Given the description of an element on the screen output the (x, y) to click on. 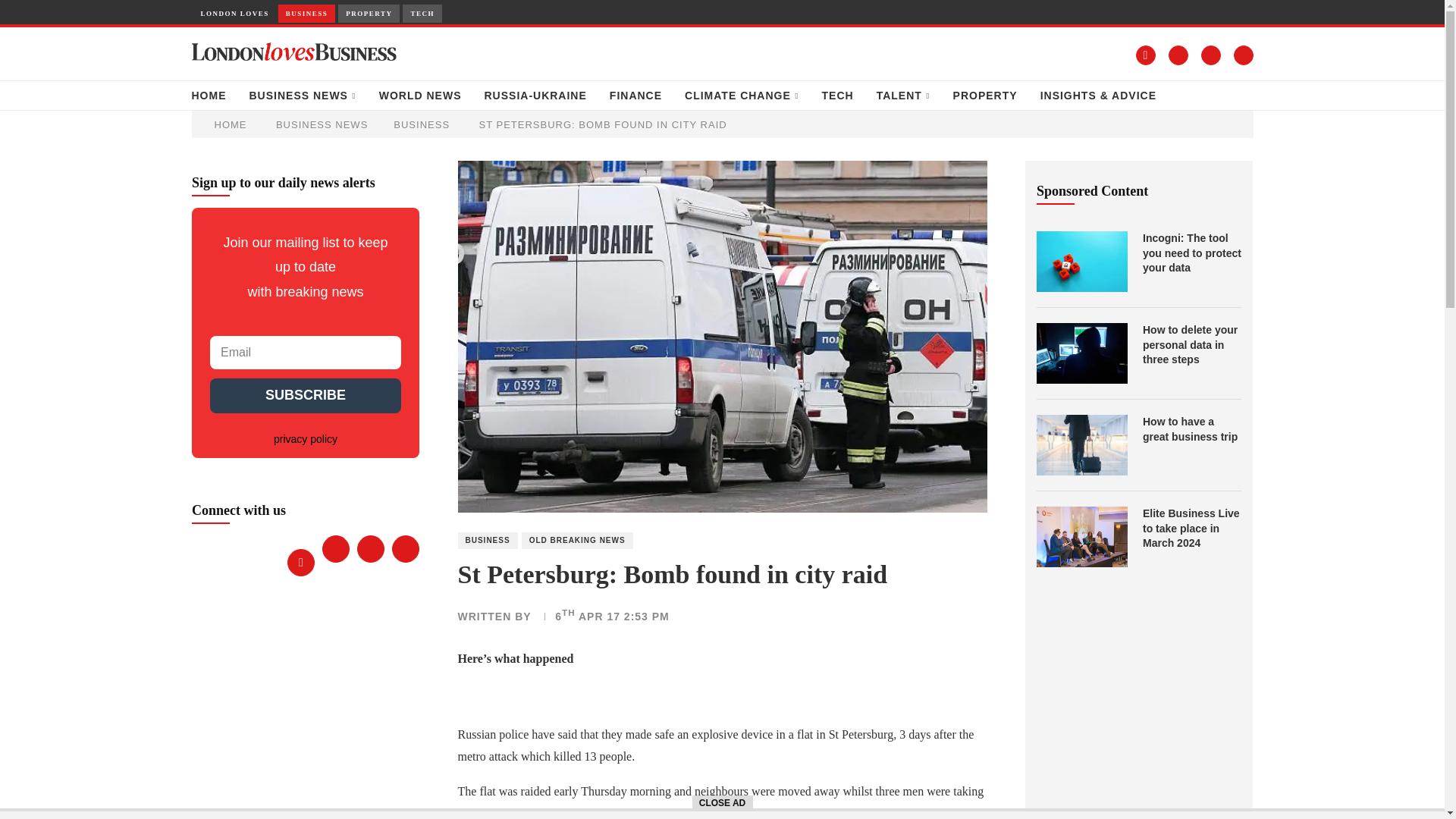
Incogni: The tool you need to protect your data (1191, 253)
How to have a great business trip (1081, 444)
How to delete your personal data in three steps (1081, 353)
Elite Business Live to take place in March 2024 (1191, 528)
Elite Business Live to take place in March 2024 (1081, 536)
Incogni: The tool you need to protect your data (1081, 260)
How to delete your personal data in three steps (1191, 344)
How to have a great business trip (1191, 429)
